Given the description of an element on the screen output the (x, y) to click on. 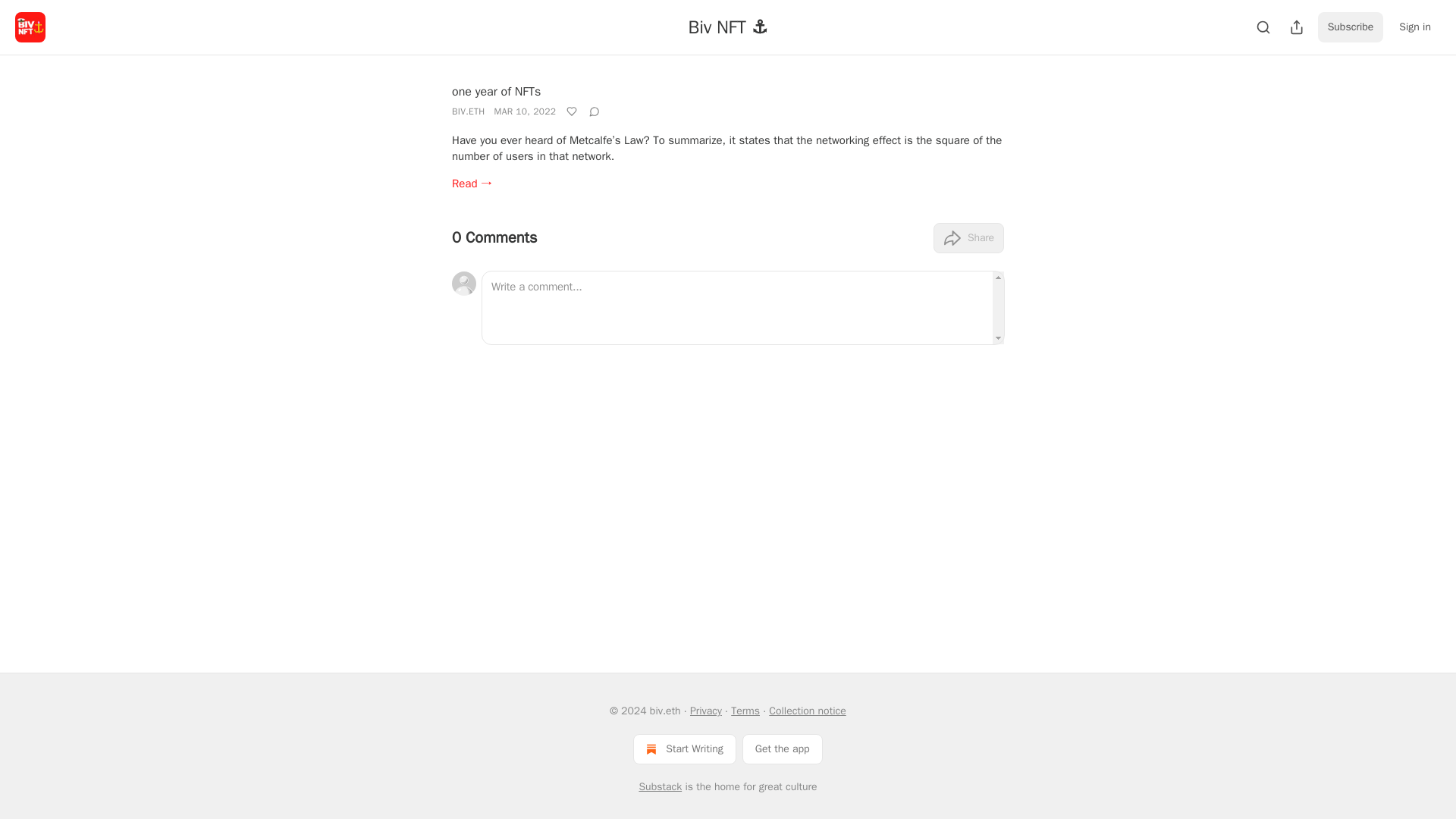
Sign in (1415, 27)
Start Writing (684, 748)
one year of NFTs (495, 91)
Subscribe (1350, 27)
Terms (745, 710)
Get the app (782, 748)
Substack (660, 786)
Share (968, 237)
BIV.ETH (467, 111)
2022-03-09T20:10:53.775Z (525, 111)
